Given the description of an element on the screen output the (x, y) to click on. 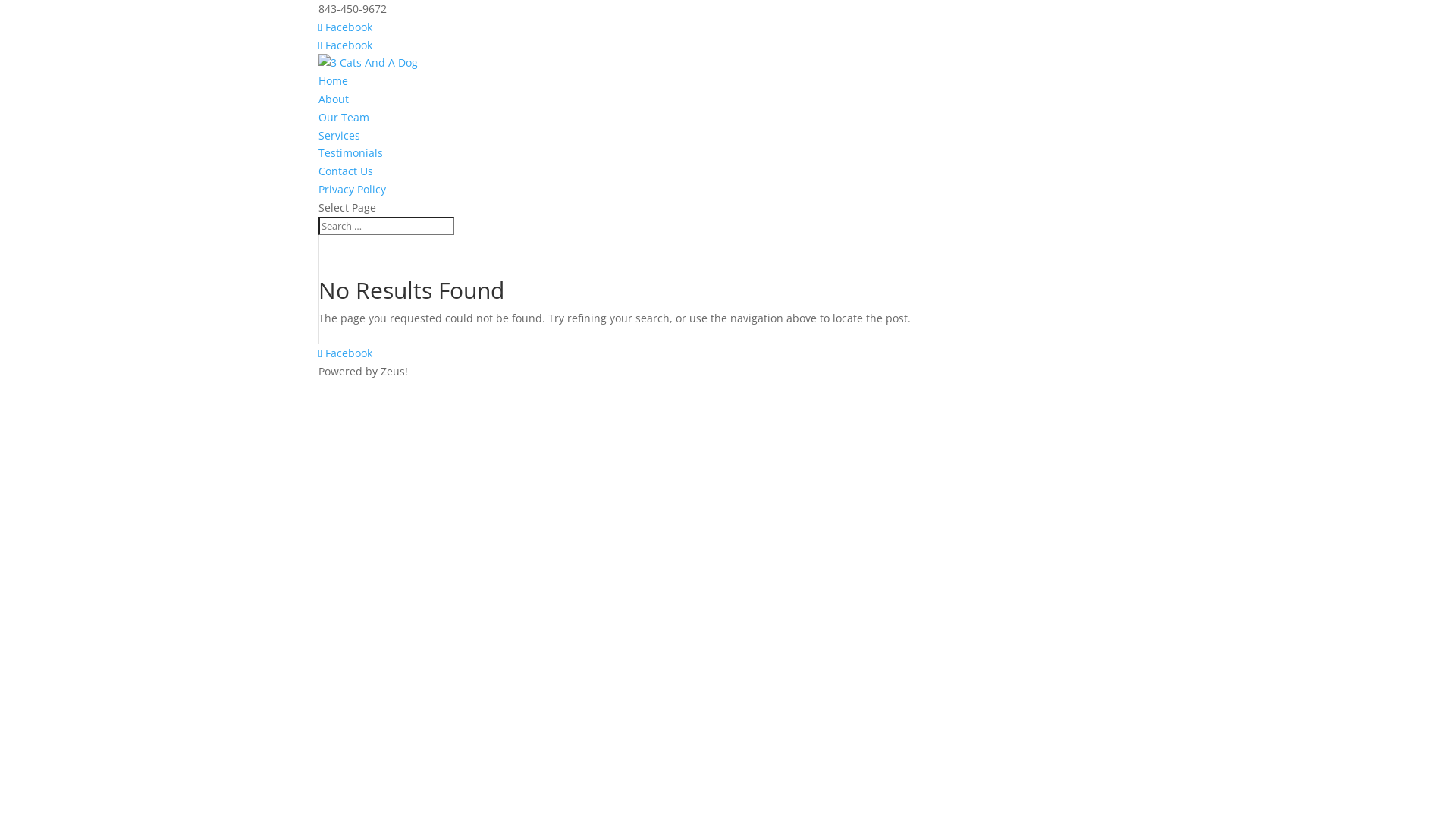
Home Element type: text (333, 80)
Search for: Element type: hover (386, 225)
Facebook Element type: text (345, 352)
Facebook Element type: text (345, 44)
Testimonials Element type: text (350, 152)
Our Team Element type: text (343, 116)
Services Element type: text (339, 135)
Privacy Policy Element type: text (351, 189)
Contact Us Element type: text (345, 170)
About Element type: text (333, 98)
Facebook Element type: text (345, 26)
